Given the description of an element on the screen output the (x, y) to click on. 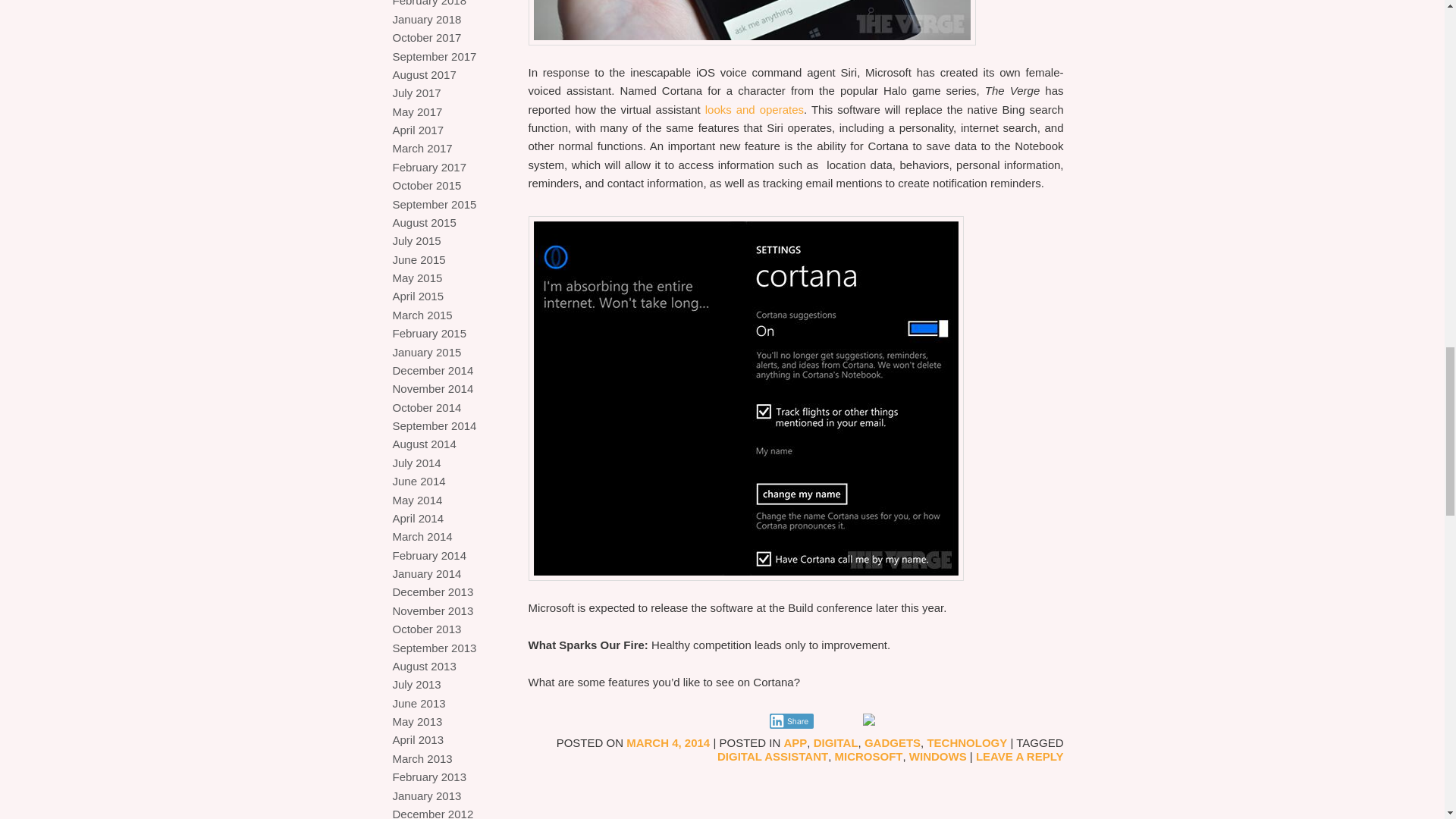
TECHNOLOGY (966, 742)
APP (796, 742)
8:38 pm (668, 742)
DIGITAL ASSISTANT (772, 756)
GADGETS (892, 742)
looks and operates (753, 109)
DIGITAL (836, 742)
Share (790, 720)
MARCH 4, 2014 (668, 742)
